Given the description of an element on the screen output the (x, y) to click on. 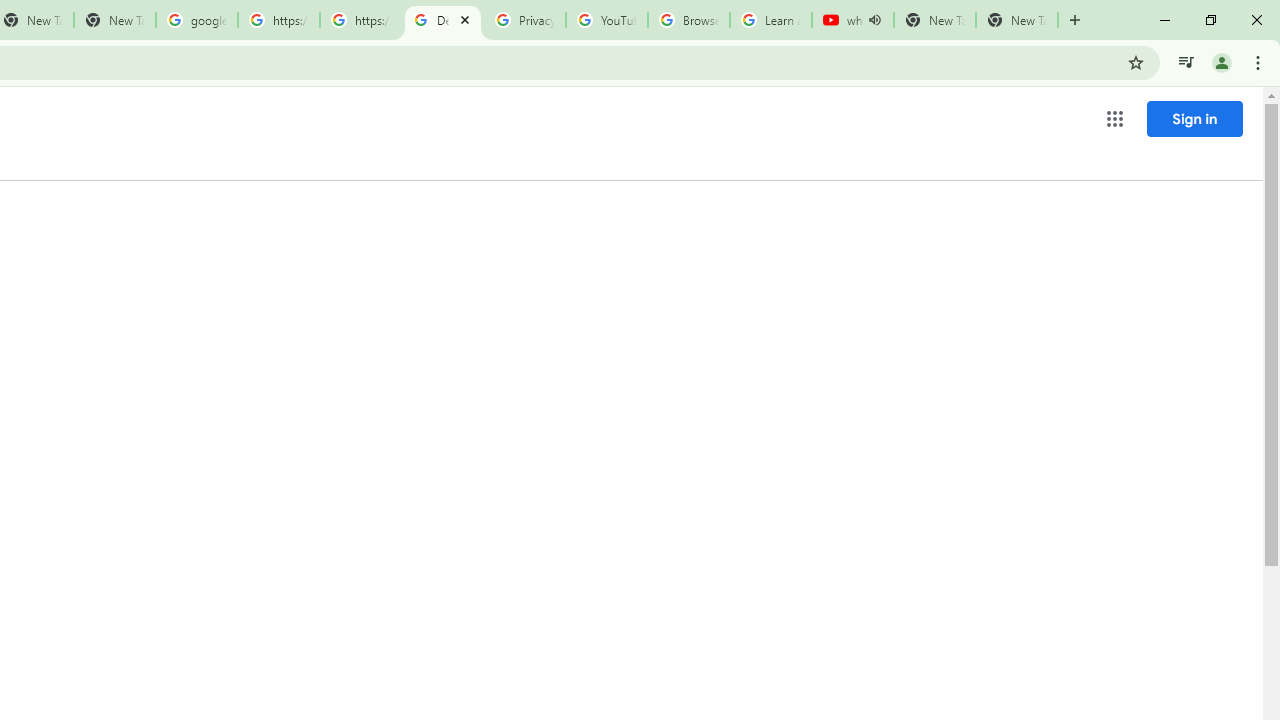
New Tab (1016, 20)
https://scholar.google.com/ (360, 20)
YouTube (606, 20)
https://scholar.google.com/ (278, 20)
